Given the description of an element on the screen output the (x, y) to click on. 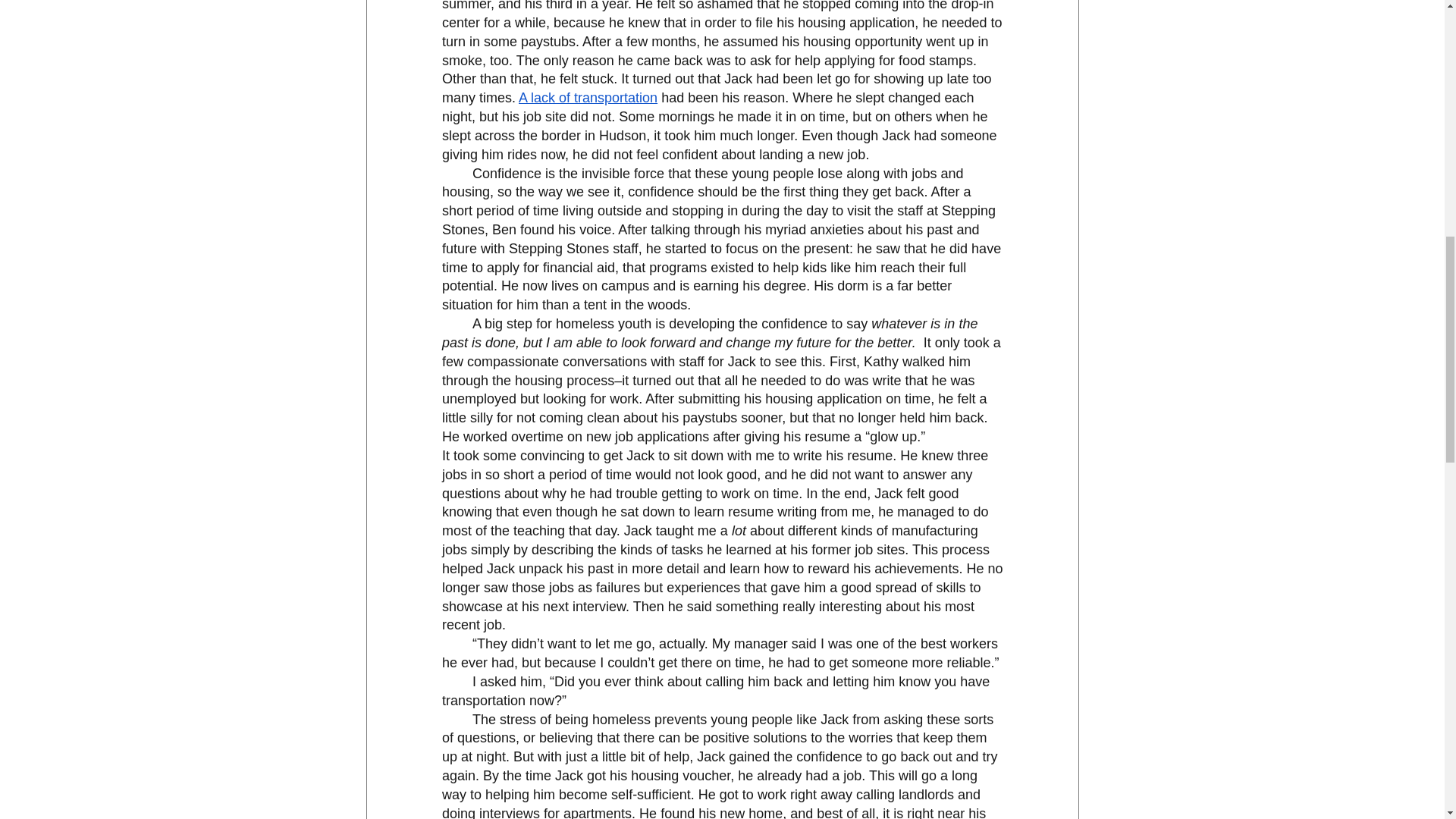
A lack of transportation (588, 97)
